Given the description of an element on the screen output the (x, y) to click on. 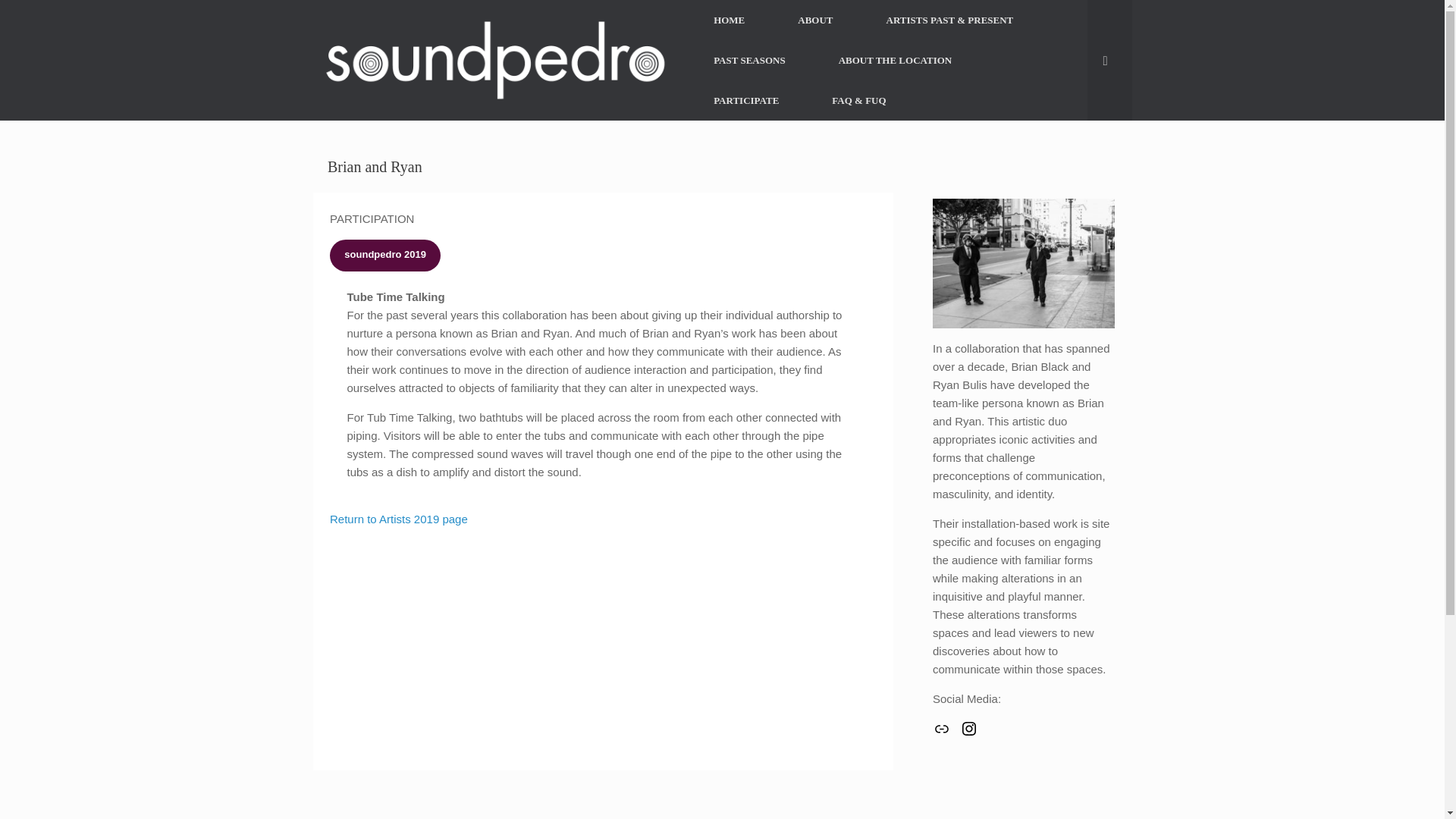
ABOUT THE LOCATION (895, 60)
Instagram (968, 728)
ABOUT (815, 20)
PAST SEASONS (749, 60)
Artist's website (941, 728)
PARTICIPATE (746, 100)
Return to Artists 2019 page (398, 518)
soundpedro 2019 (385, 255)
soundpedro (494, 60)
HOME (729, 20)
